Given the description of an element on the screen output the (x, y) to click on. 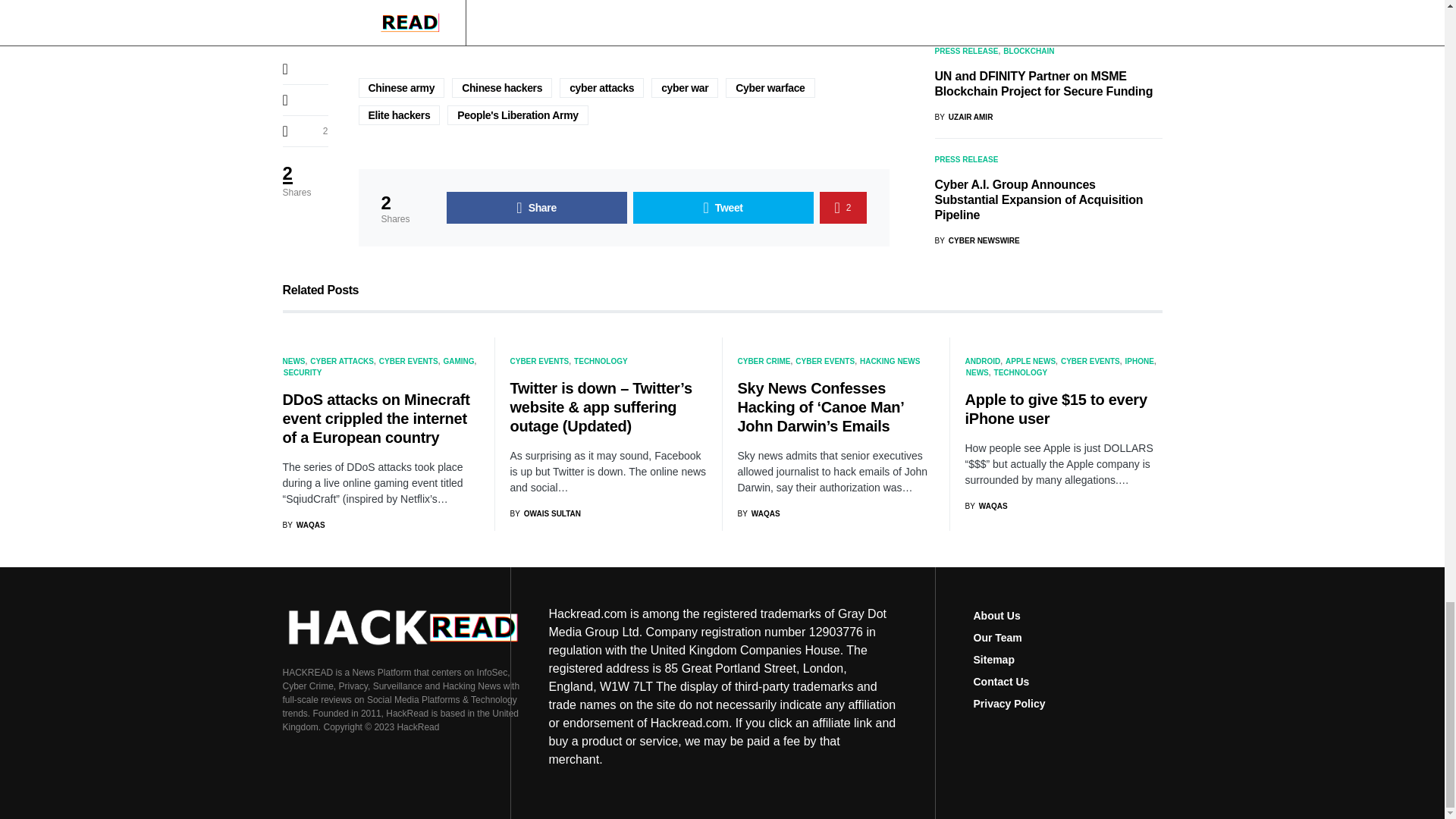
View all posts by Waqas (303, 524)
View all posts by Waqas (985, 505)
View all posts by Waqas (757, 513)
View all posts by Owais Sultan (544, 513)
